Given the description of an element on the screen output the (x, y) to click on. 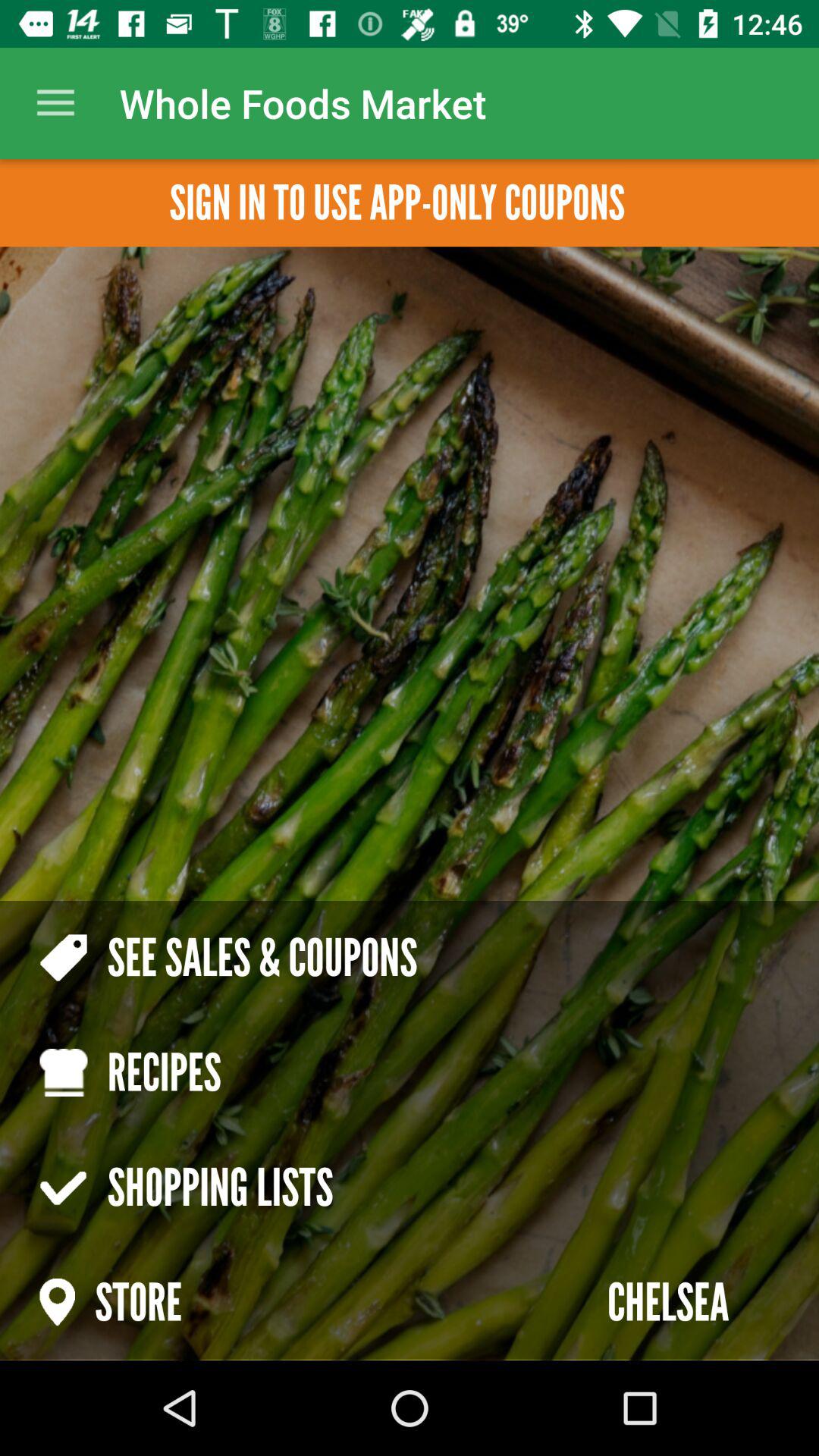
select the sign in to item (397, 202)
